Given the description of an element on the screen output the (x, y) to click on. 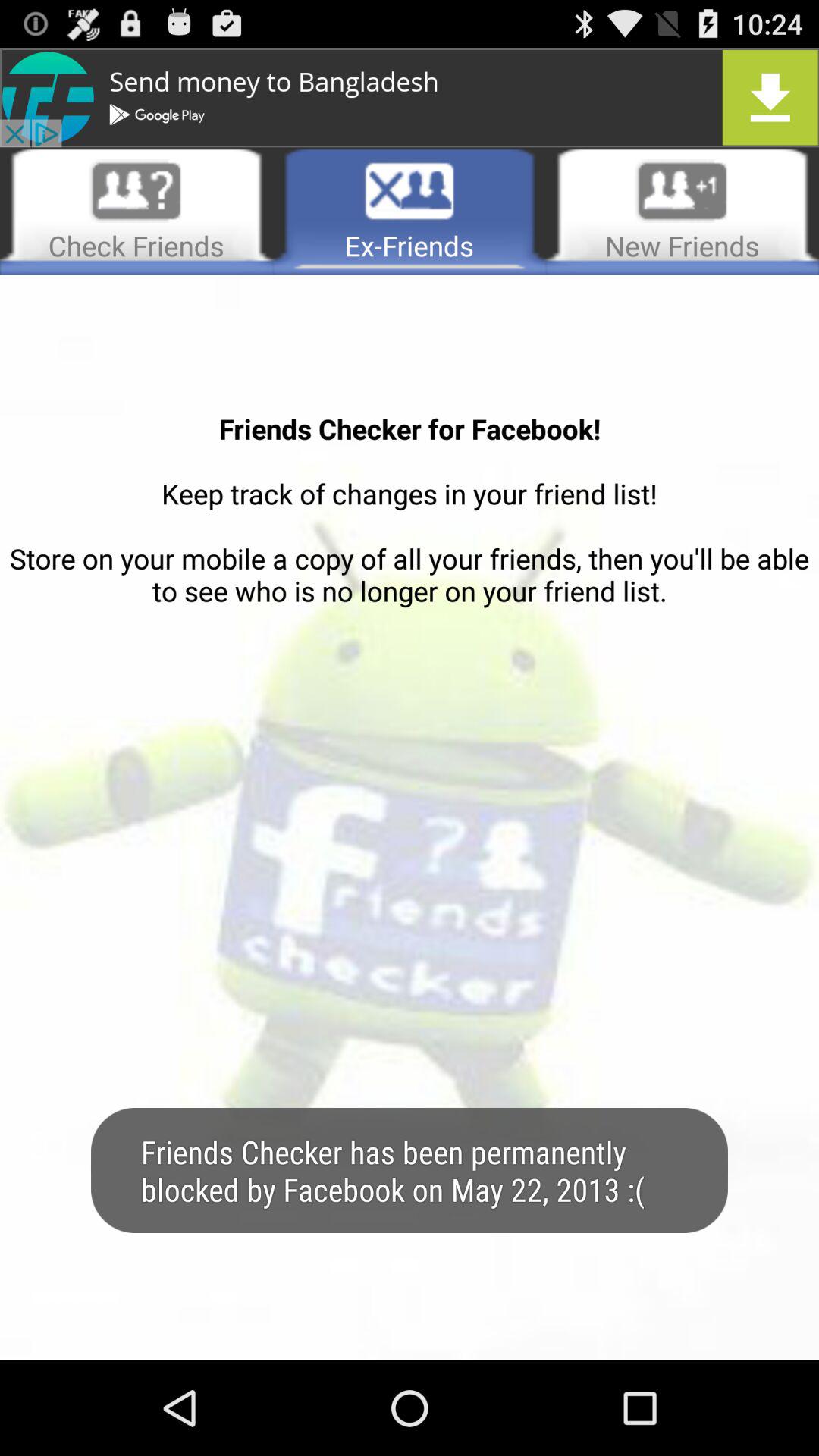
advertisement (409, 97)
